Given the description of an element on the screen output the (x, y) to click on. 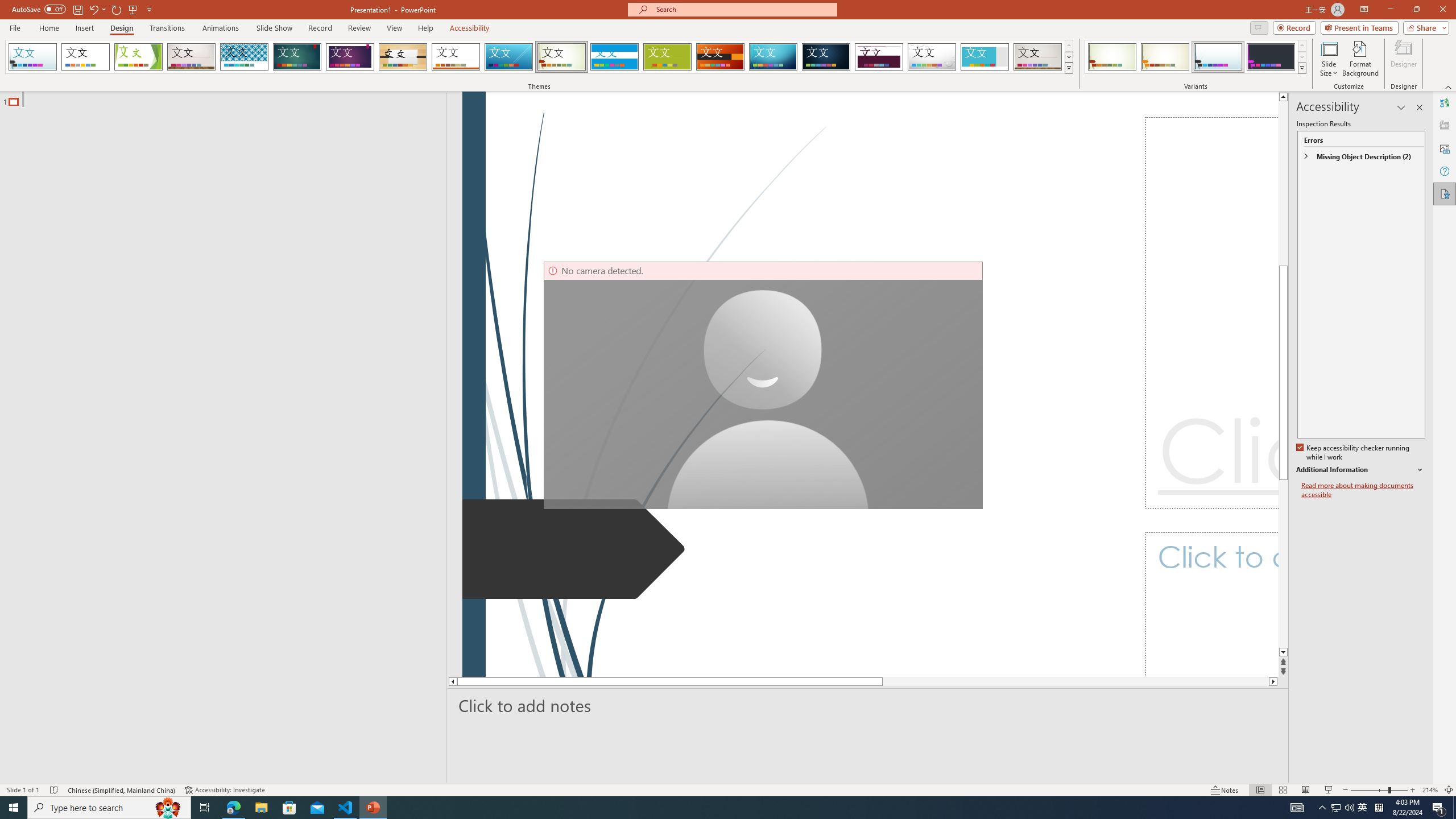
Wisp Variant 2 (1164, 56)
Slice (508, 56)
Outline (227, 99)
Berlin (720, 56)
Alt Text (1444, 147)
Variants (1301, 67)
Rectangle (216, 437)
